Given the description of an element on the screen output the (x, y) to click on. 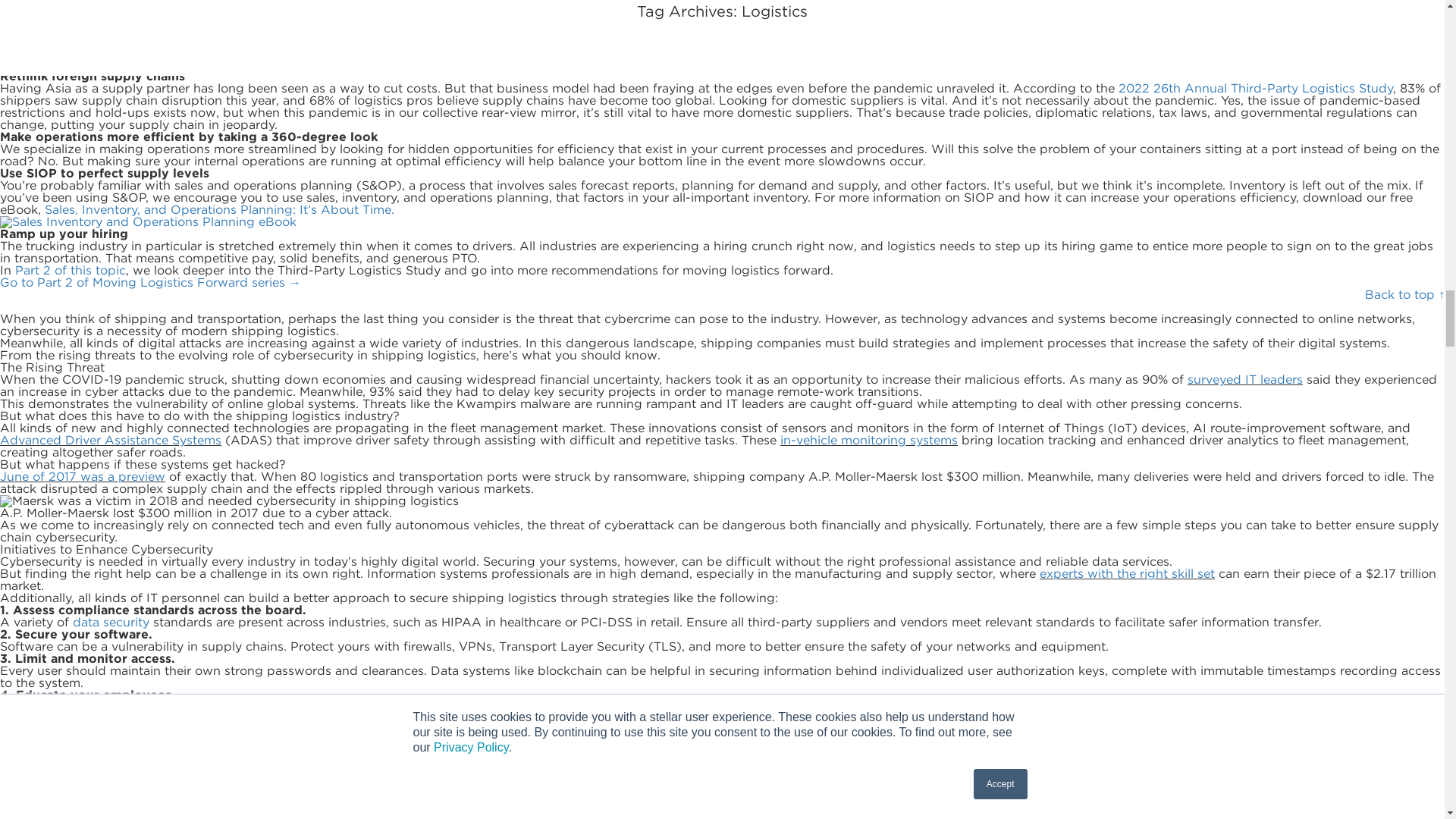
2022 26th Annual Third-Party Logistics Study (1255, 88)
Part 2 of this topic (69, 269)
surveyed IT leaders (1245, 379)
